Given the description of an element on the screen output the (x, y) to click on. 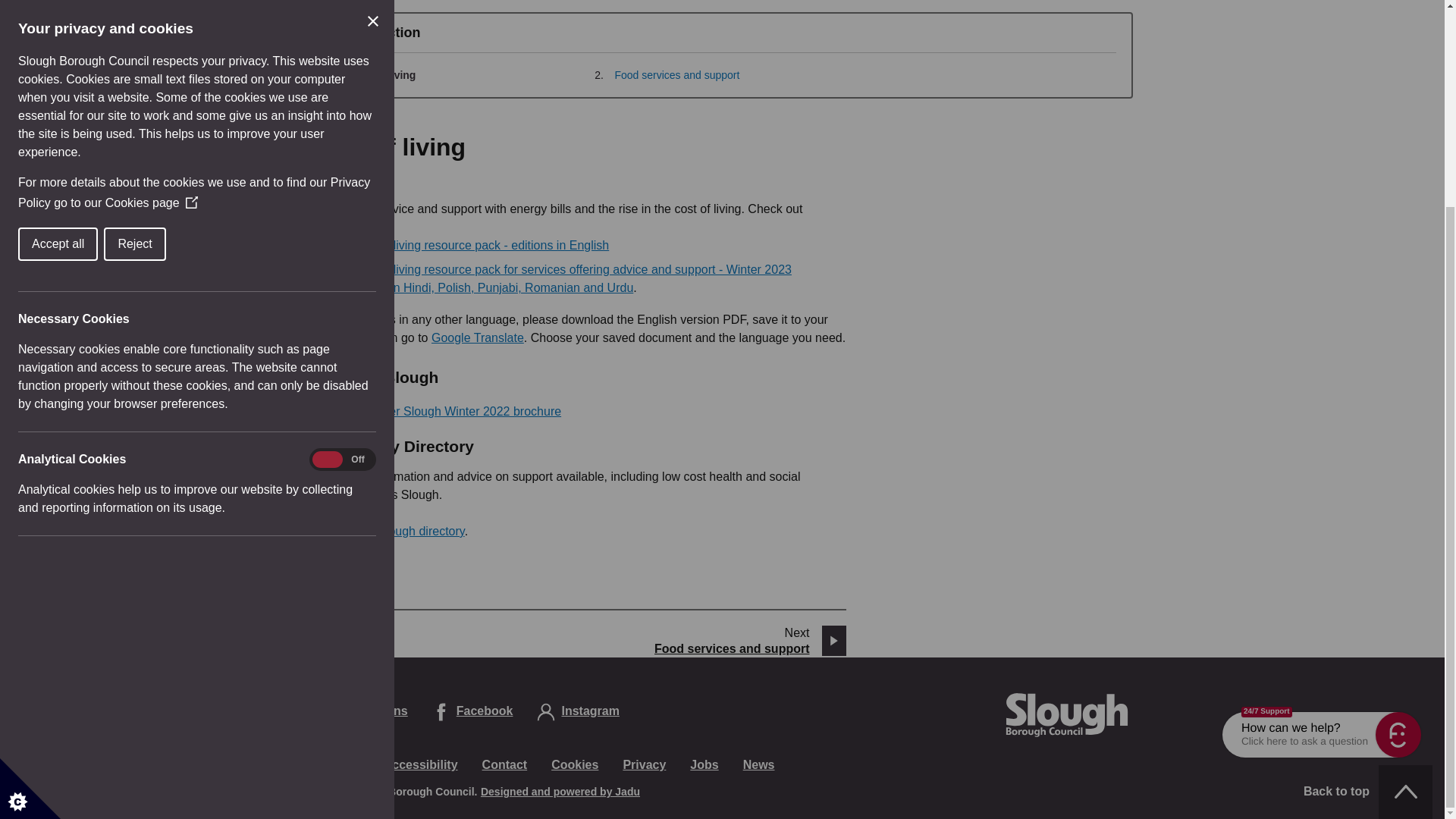
Slough Borough Council Home Page (1066, 715)
Cost of living resource pack - editions in English (481, 245)
Food services and support (676, 74)
Visit the Jadu website (560, 791)
Google Translate (477, 337)
Healthier Slough Winter 2022 brochure (457, 410)
